Given the description of an element on the screen output the (x, y) to click on. 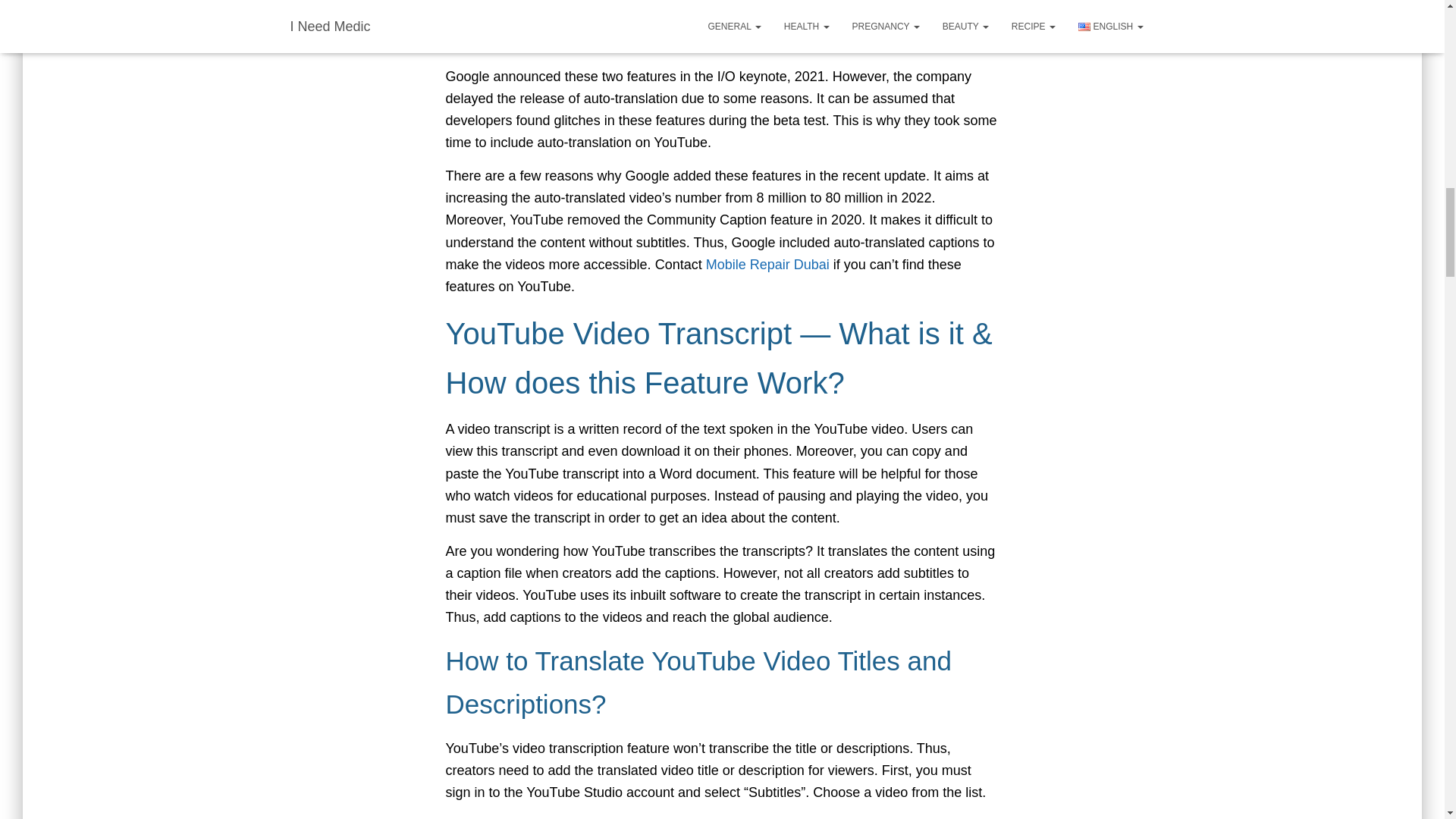
Mobile Repair Dubai (767, 264)
